Given the description of an element on the screen output the (x, y) to click on. 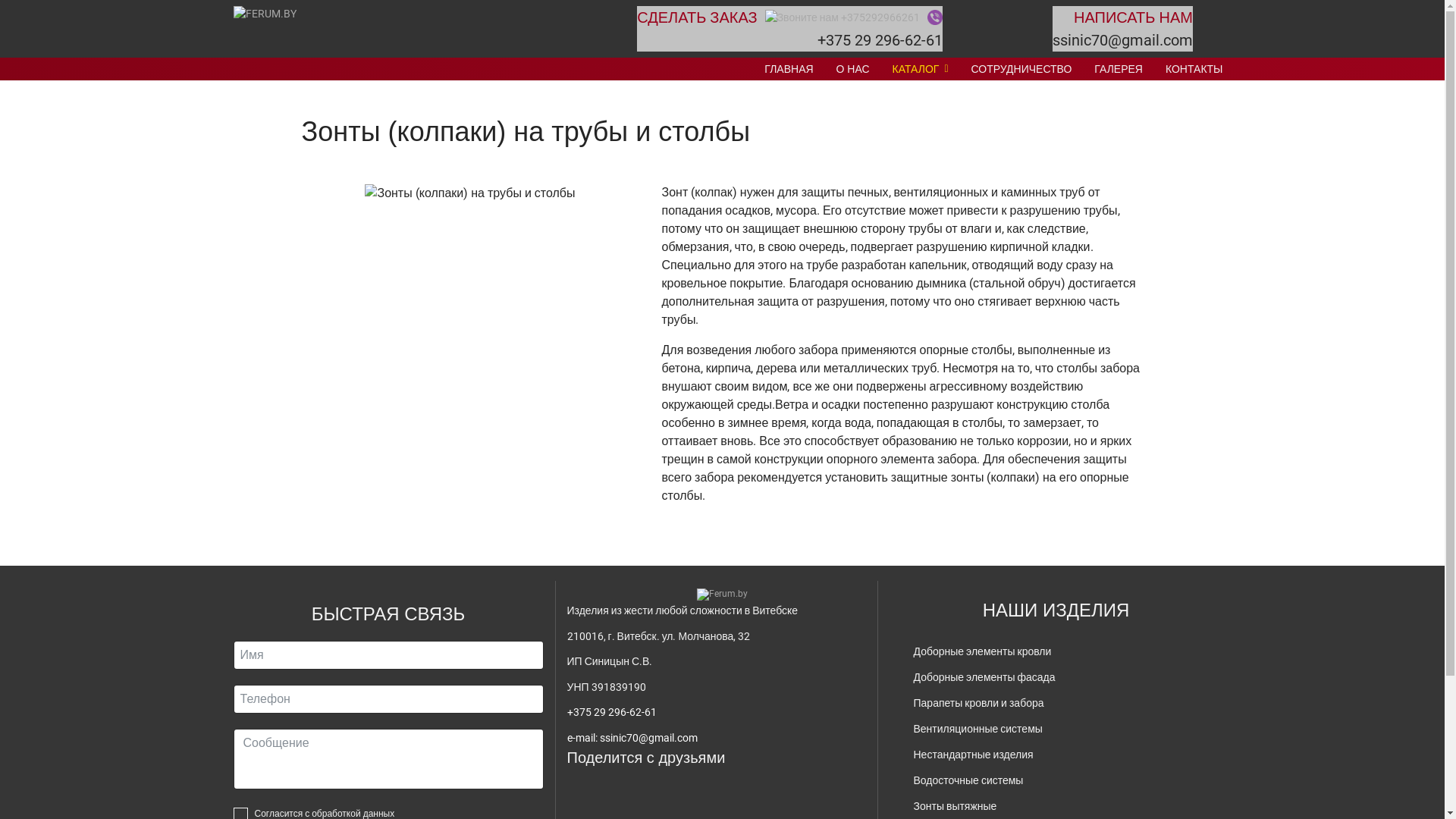
+375 29 296-62-61 Element type: text (611, 712)
e-mail: ssinic70@gmail.com Element type: text (632, 737)
